Given the description of an element on the screen output the (x, y) to click on. 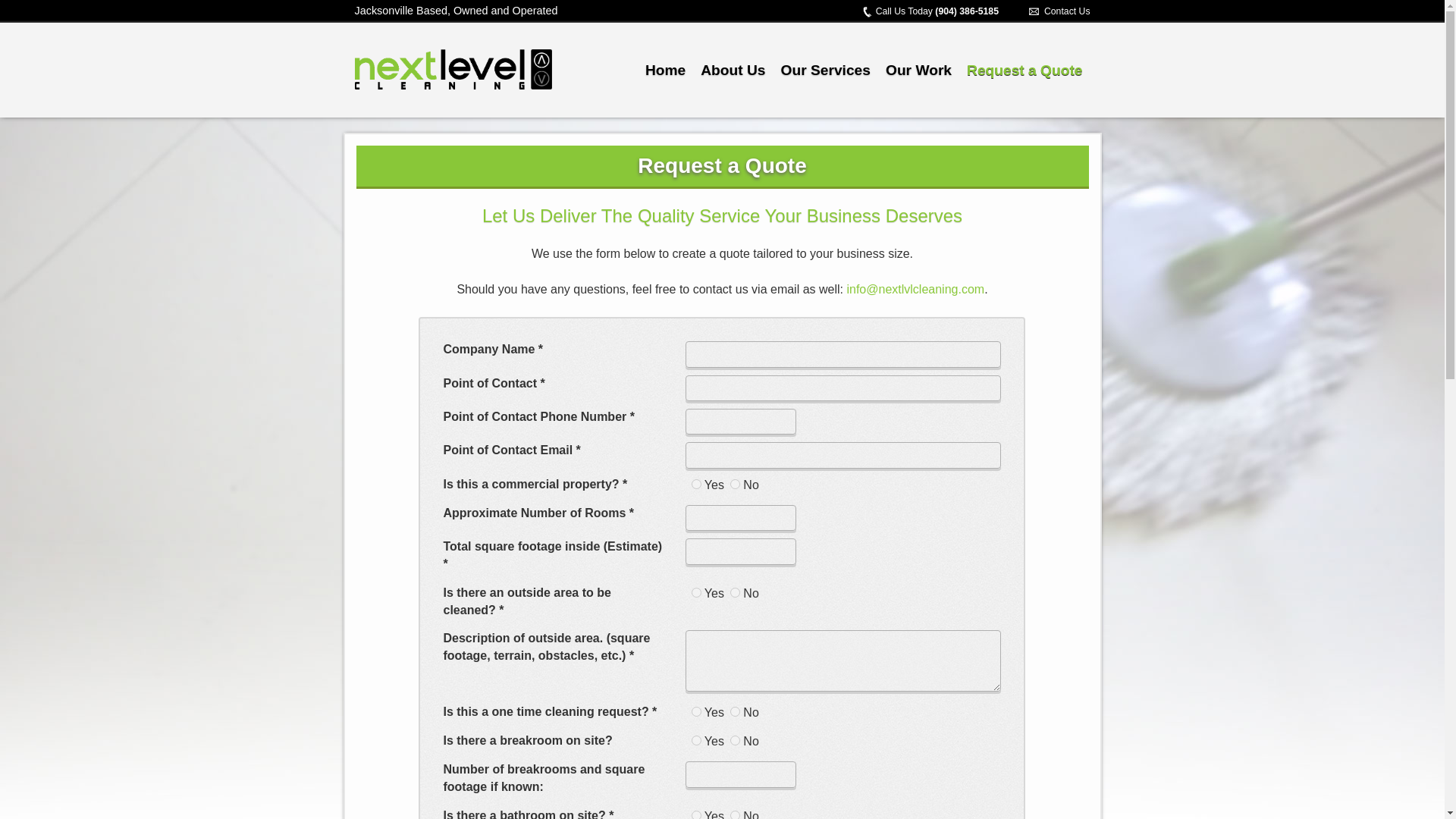
Yes (696, 592)
No (734, 483)
Yes (696, 814)
No (734, 814)
Contact Us (1066, 10)
Our Services (825, 70)
No (734, 592)
No (734, 711)
Our Work (918, 70)
Yes (696, 740)
Home (665, 70)
Next Level Cleaning, LLC (441, 67)
Yes (696, 483)
Yes (696, 711)
No (734, 740)
